Given the description of an element on the screen output the (x, y) to click on. 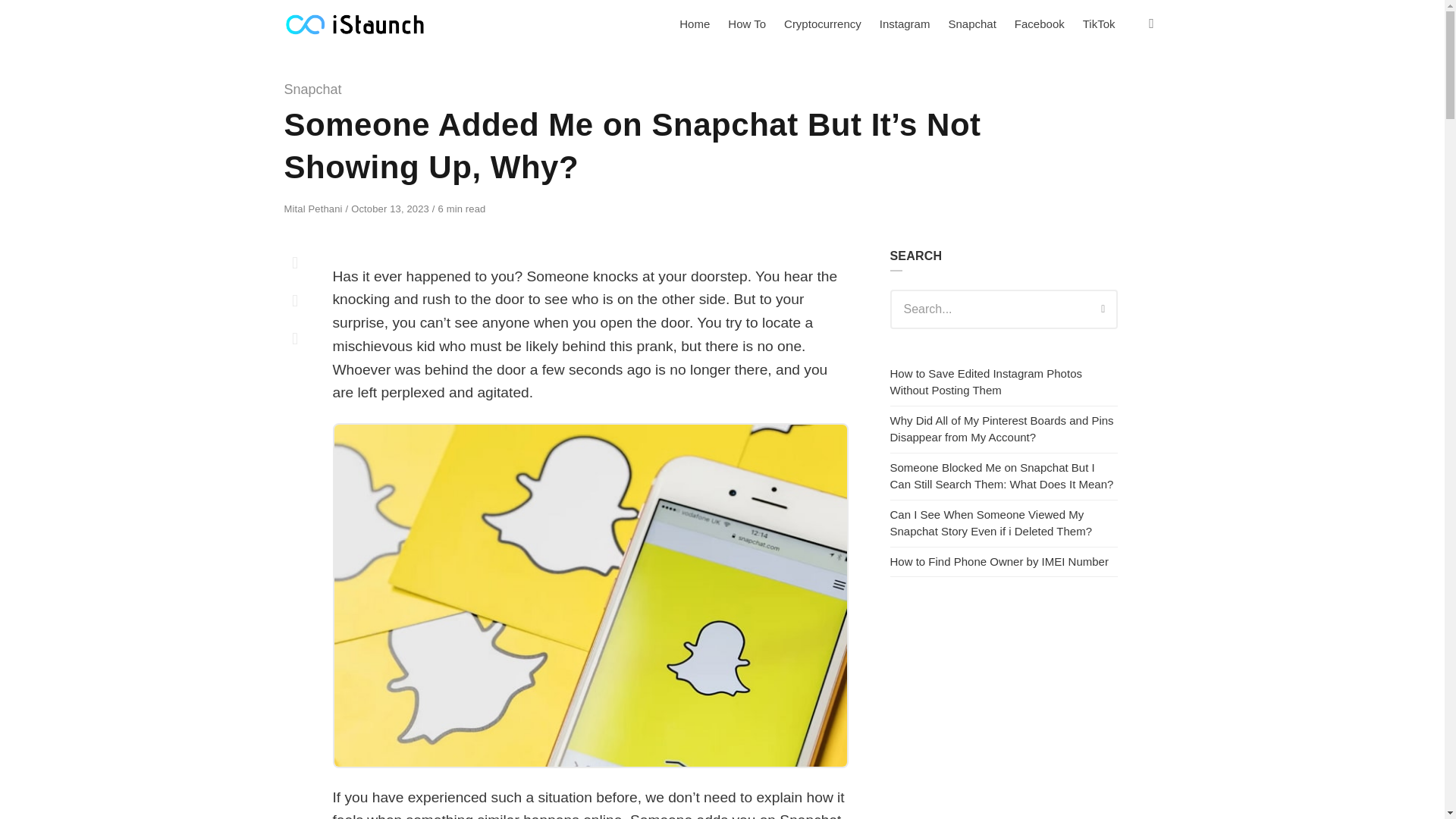
TikTok (1099, 24)
Facebook (1040, 24)
Snapchat (971, 24)
How to Save Edited Instagram Photos Without Posting Them (985, 381)
Instagram (904, 24)
October 13, 2023 (391, 208)
Home (694, 24)
